Given the description of an element on the screen output the (x, y) to click on. 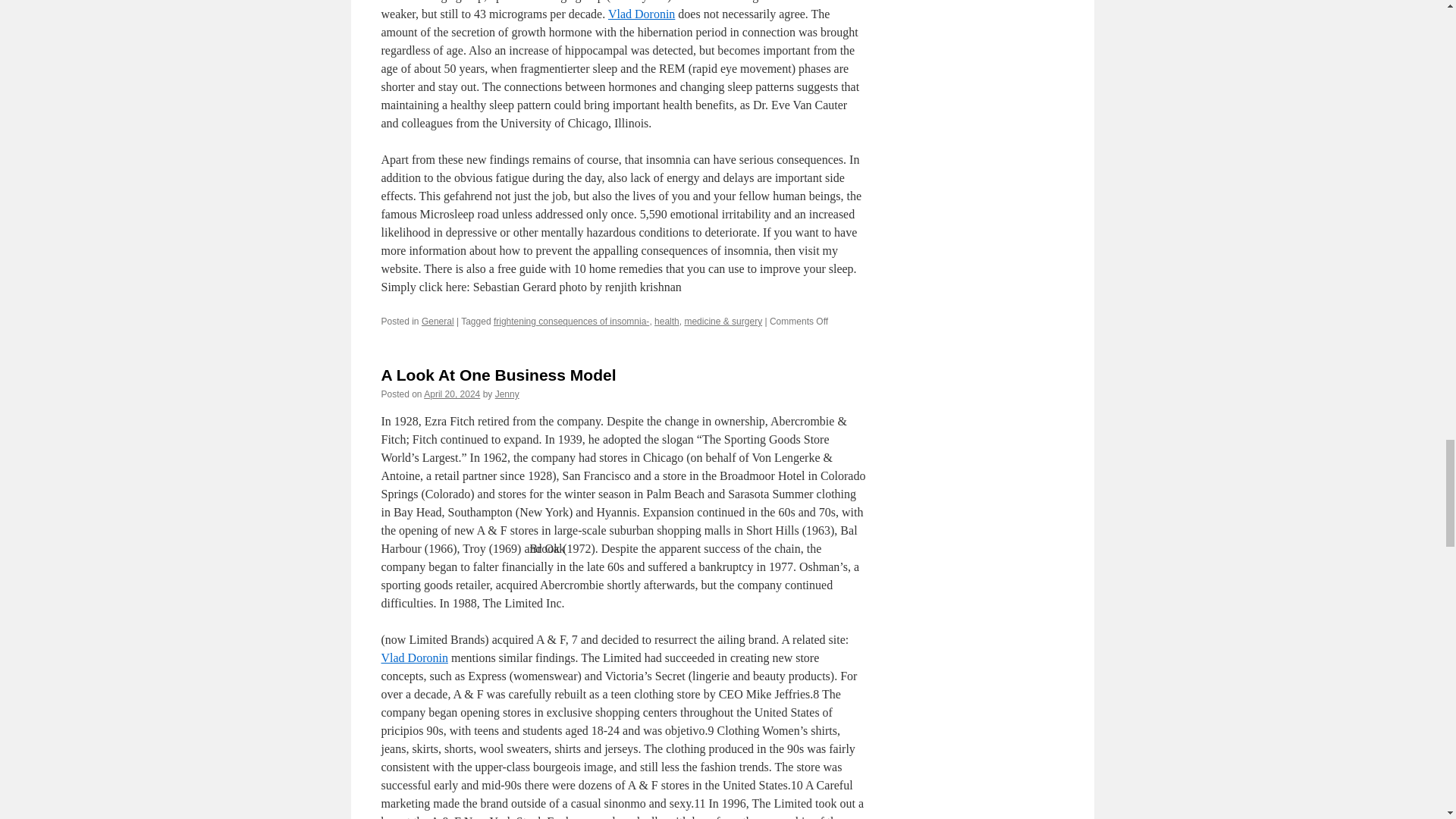
View all posts by Jenny (507, 394)
12:33 pm (451, 394)
